Given the description of an element on the screen output the (x, y) to click on. 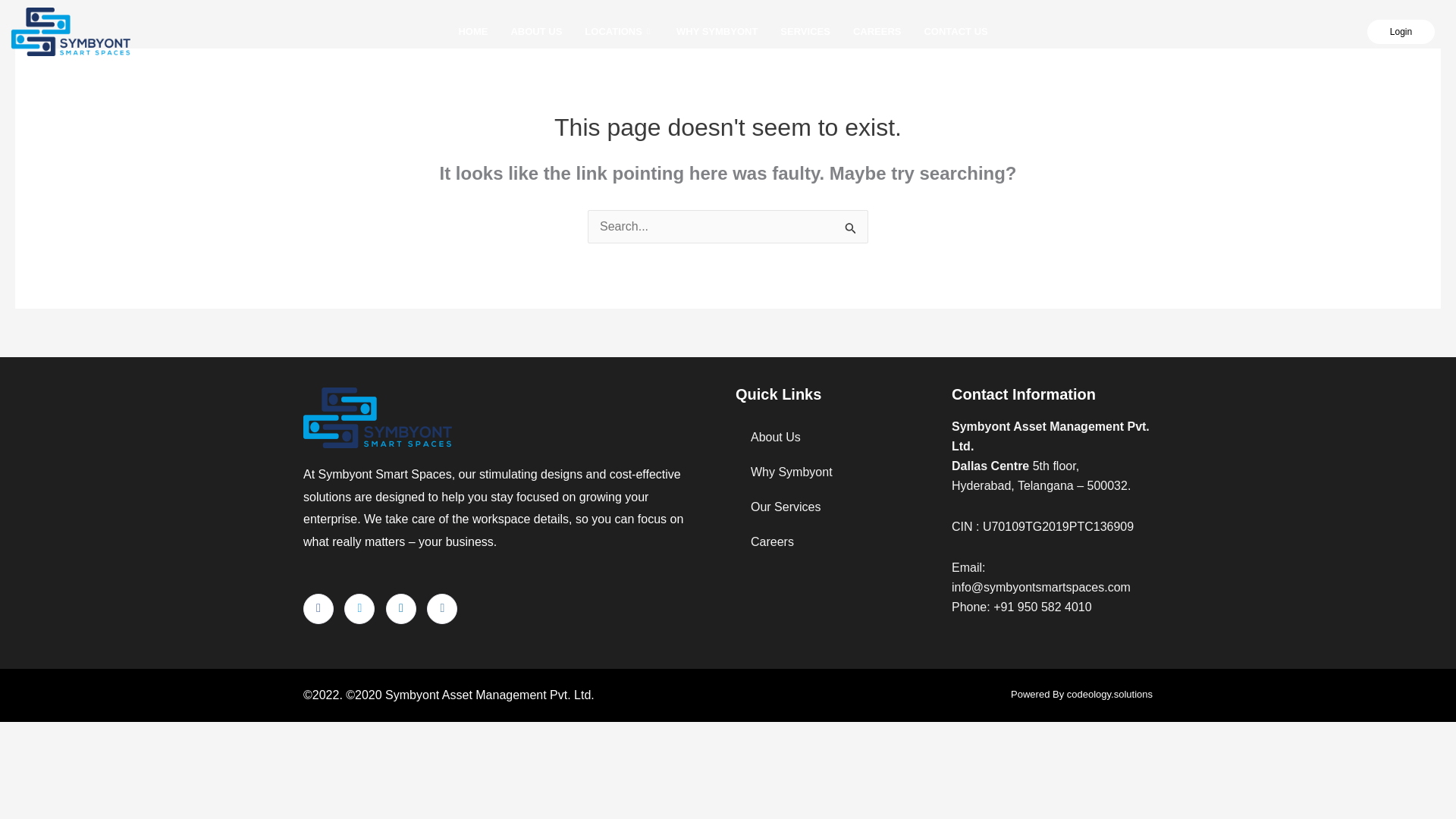
Careers (835, 541)
Why Symbyont (835, 472)
About Us (835, 437)
ABOUT US (536, 31)
Our Services (835, 506)
WHY SYMBYONT (716, 31)
CAREERS (876, 31)
SERVICES (804, 31)
LOCATIONS (619, 31)
CONTACT US (955, 31)
Login (1400, 31)
HOME (472, 31)
